Given the description of an element on the screen output the (x, y) to click on. 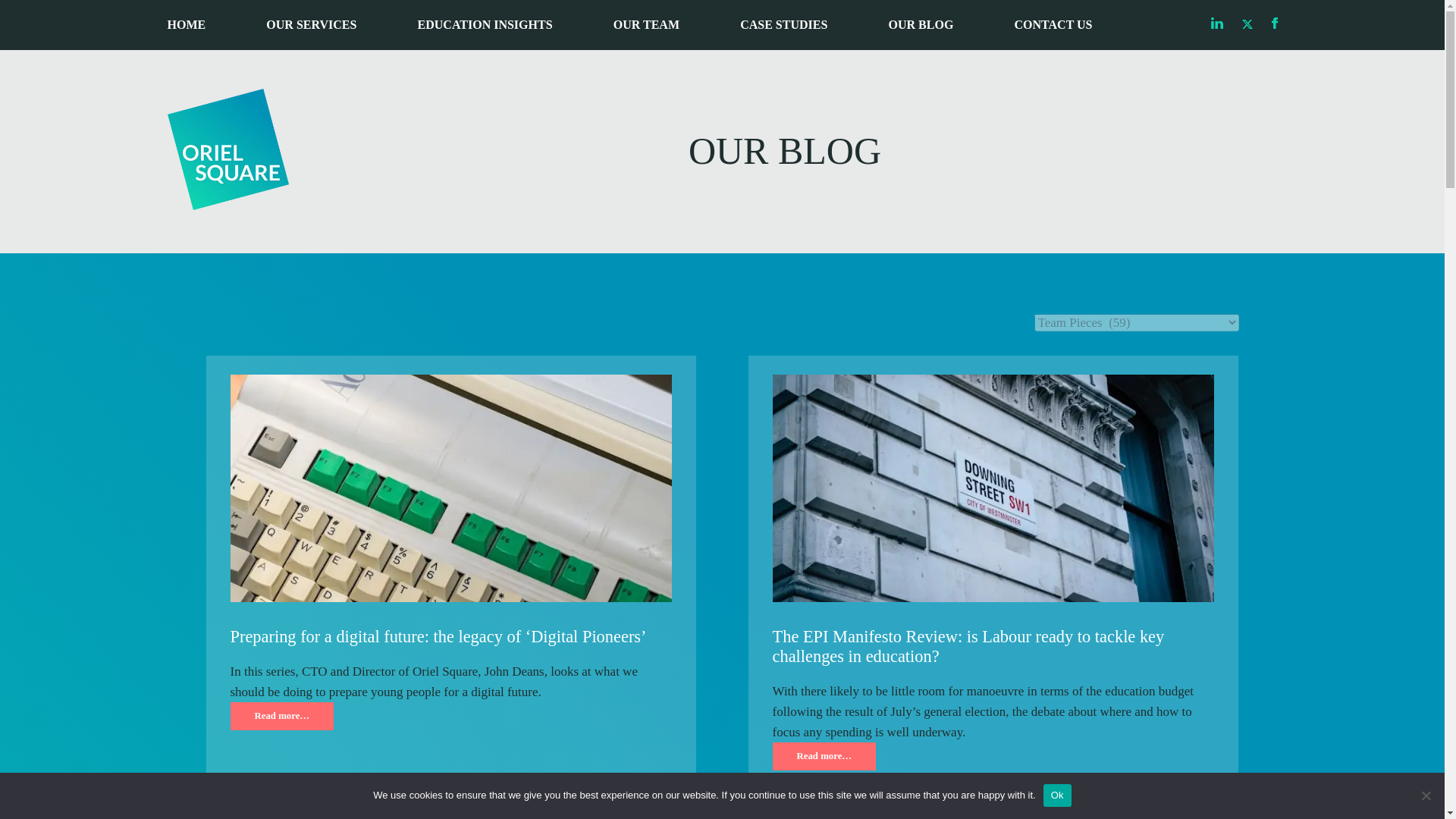
No (1425, 795)
OUR TEAM (645, 25)
HOME (186, 25)
EDUCATION INSIGHTS (485, 25)
OUR BLOG (920, 25)
CONTACT US (1053, 25)
CASE STUDIES (783, 25)
OUR SERVICES (311, 25)
